Given the description of an element on the screen output the (x, y) to click on. 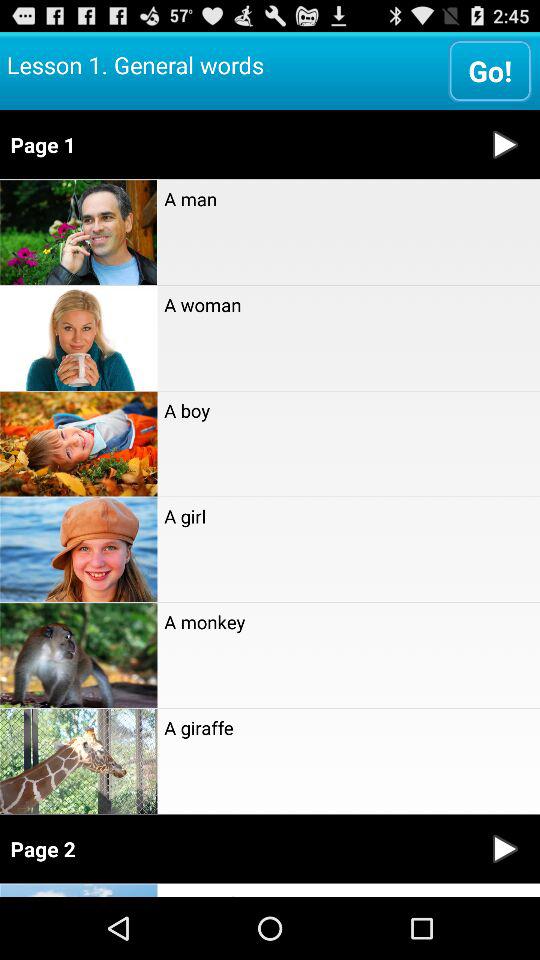
flip to a giraffe (348, 727)
